Given the description of an element on the screen output the (x, y) to click on. 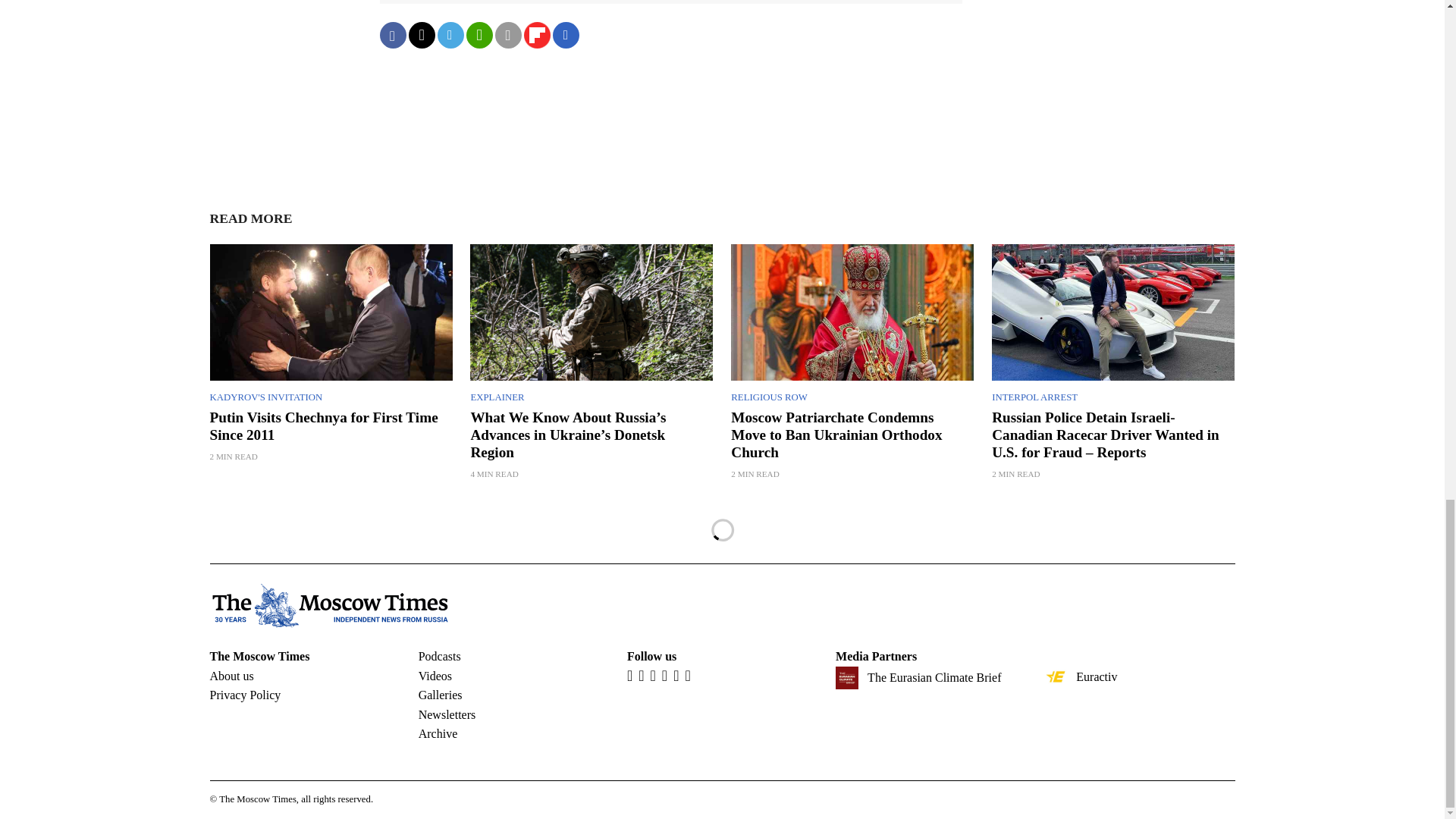
Share on Flipboard (536, 35)
Share on Facebook (392, 35)
Share on Telegram (449, 35)
Share on Twitter (420, 35)
